Given the description of an element on the screen output the (x, y) to click on. 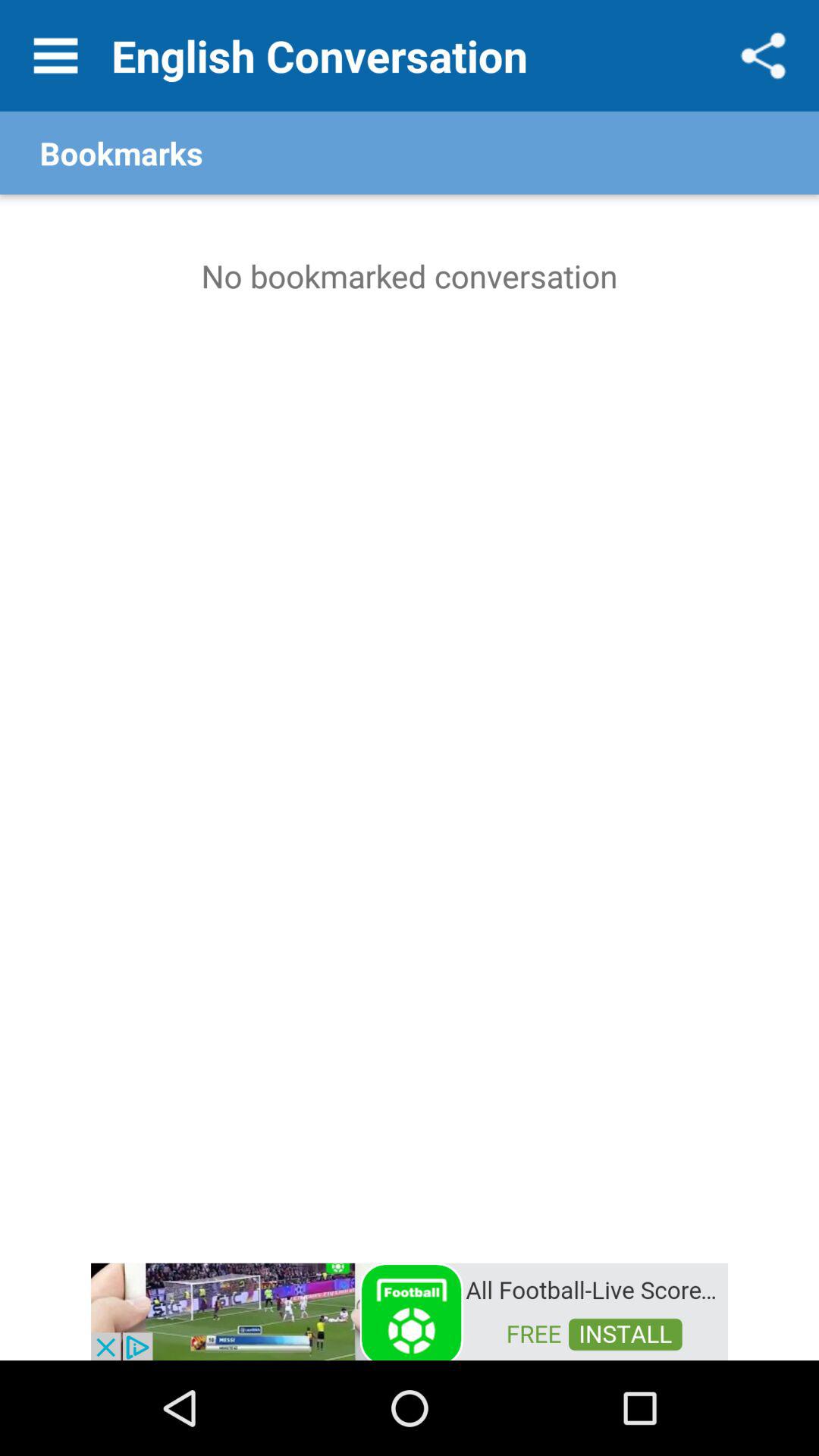
advertisement banner (409, 1310)
